Given the description of an element on the screen output the (x, y) to click on. 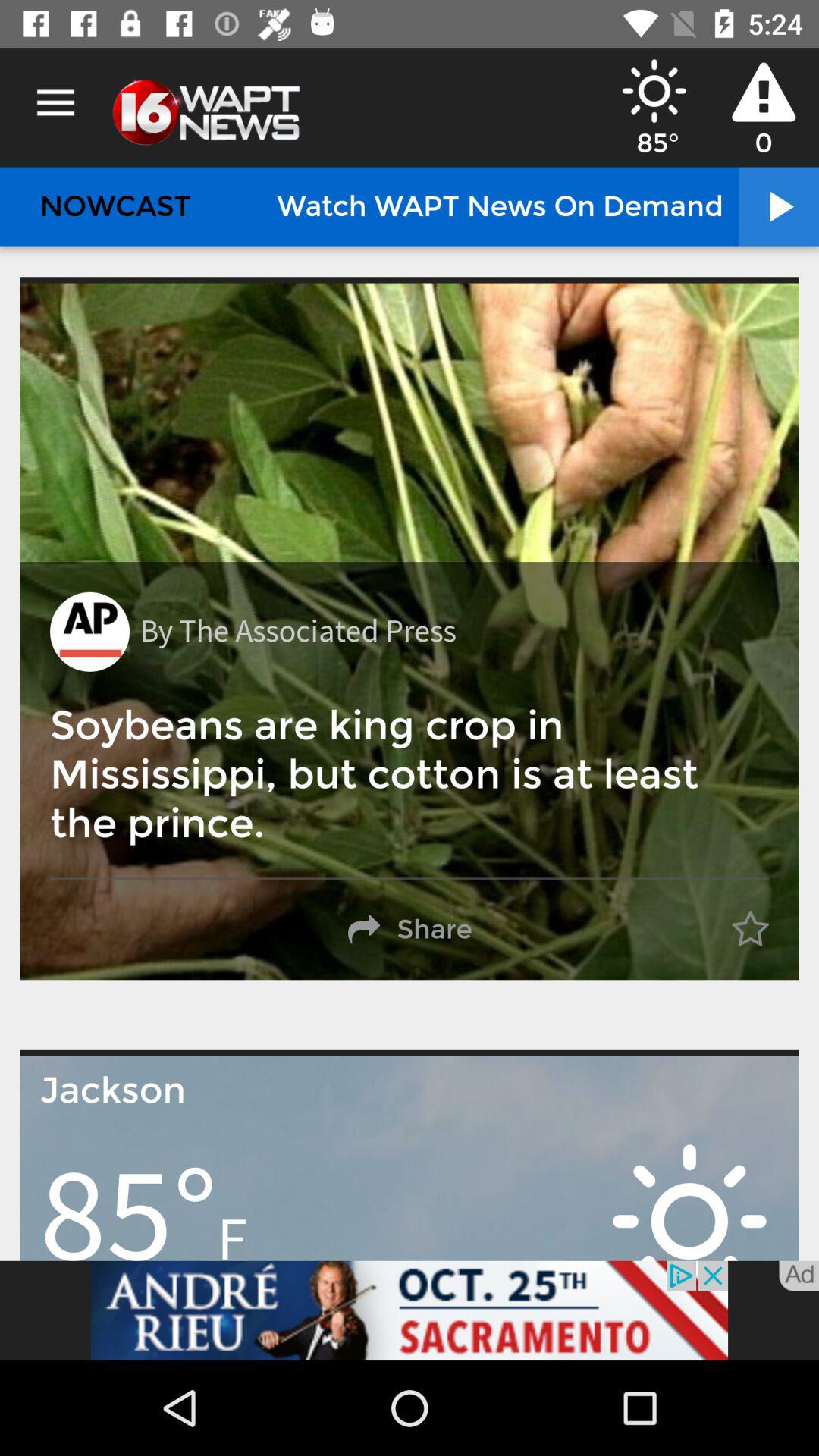
open advertisement about andr rieu (409, 1310)
